Given the description of an element on the screen output the (x, y) to click on. 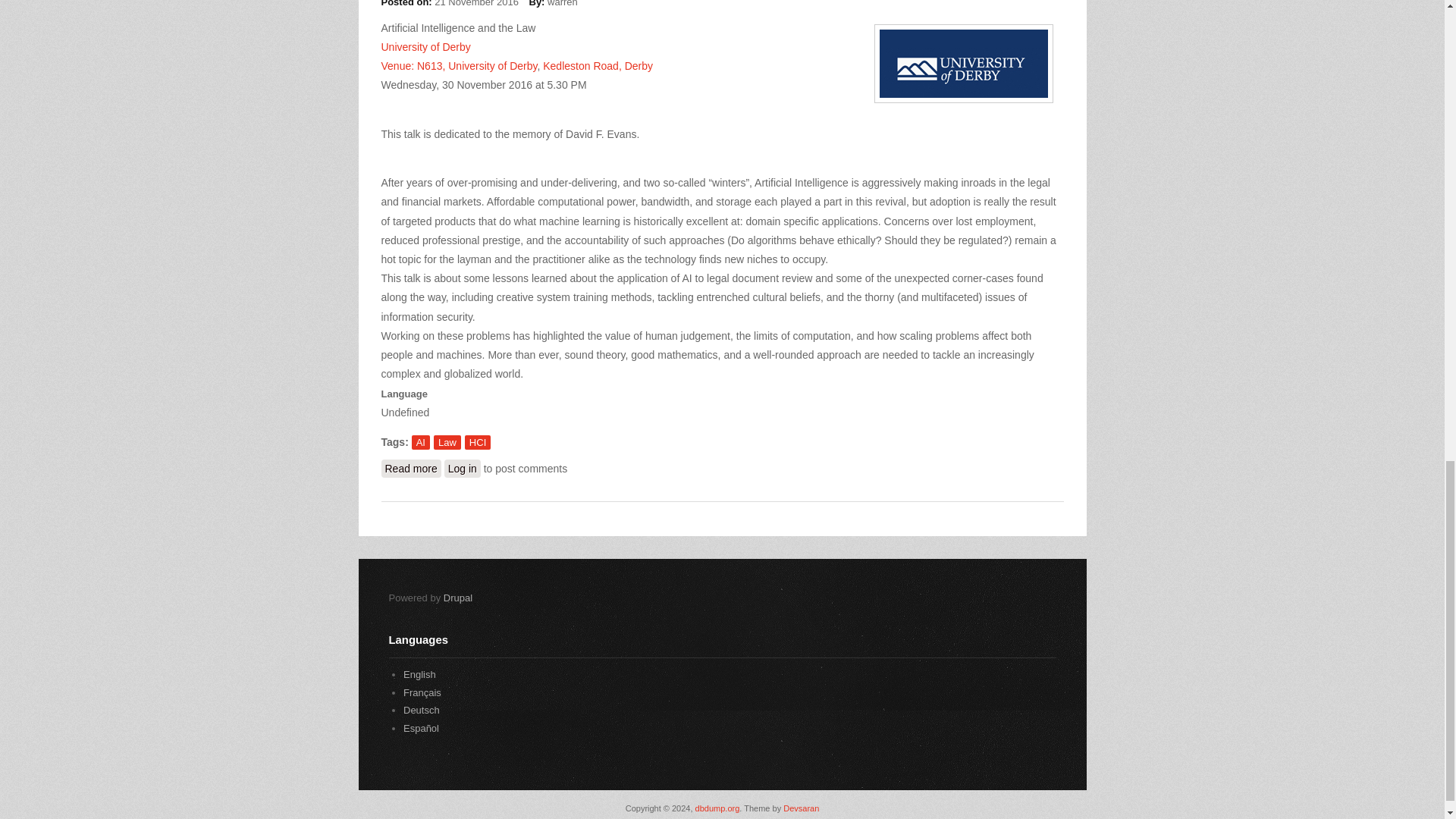
Law (447, 441)
AI (420, 441)
Law (422, 692)
Law (421, 709)
Deutsch (421, 709)
English (419, 674)
University of Derby (492, 65)
University of Derby (425, 46)
Log in (462, 468)
Kedleston Road, Derby (597, 65)
Drupal (457, 597)
Law (419, 674)
Devsaran (800, 808)
HCI (477, 441)
Venue: N613, (414, 65)
